Given the description of an element on the screen output the (x, y) to click on. 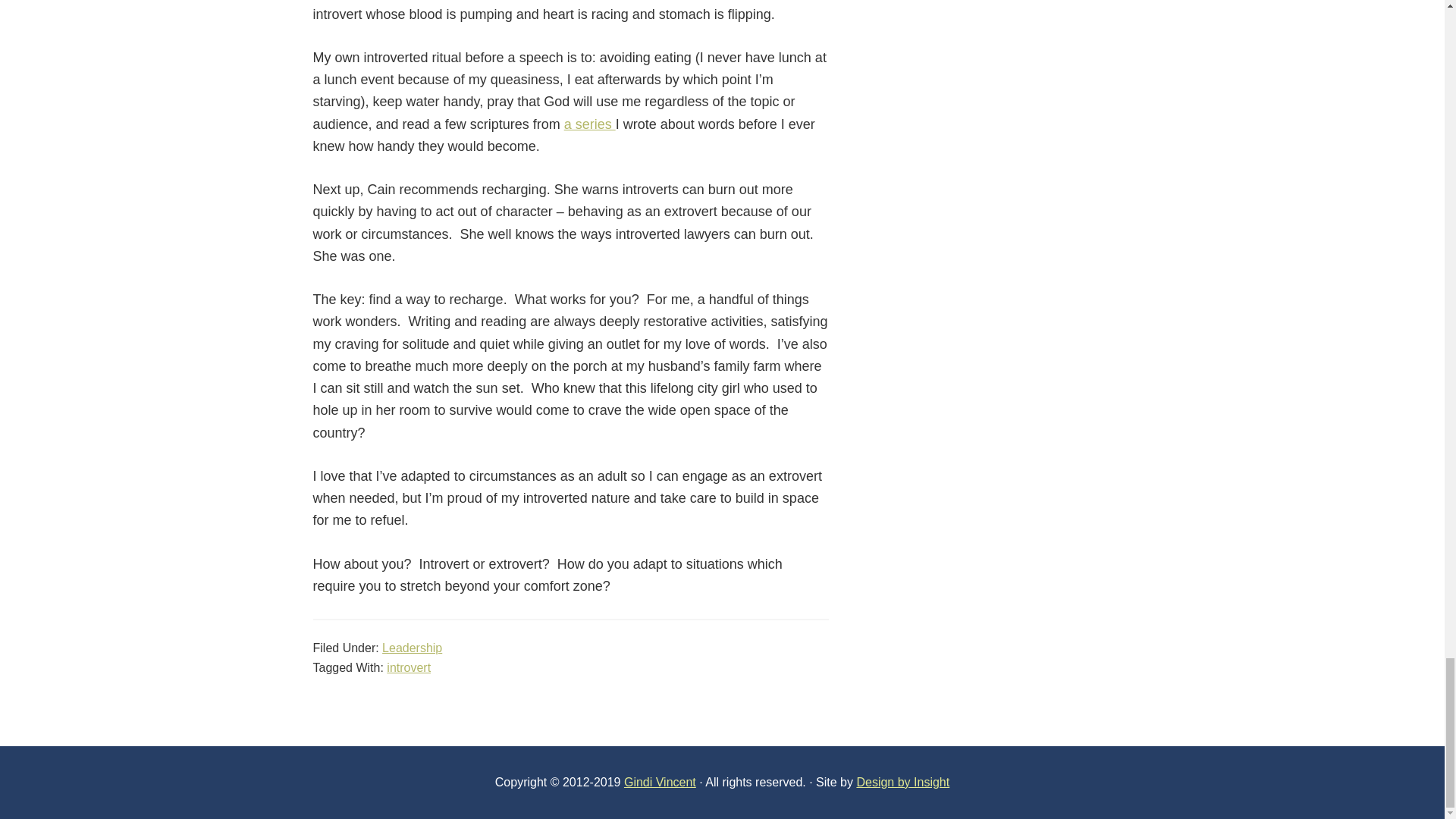
introvert (408, 667)
a series (589, 123)
Leadership (411, 647)
